Given the description of an element on the screen output the (x, y) to click on. 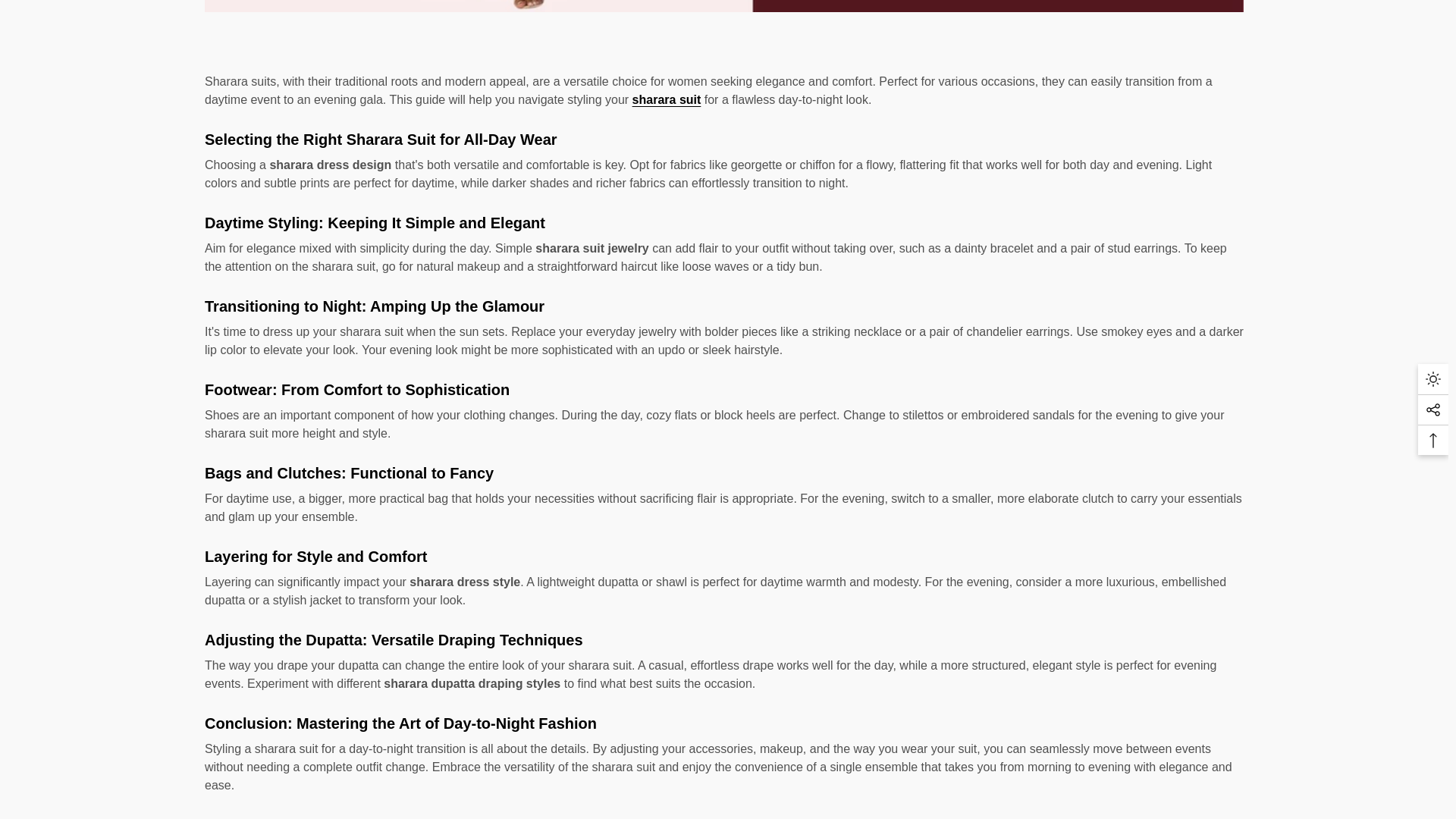
sharara suit (666, 99)
